Given the description of an element on the screen output the (x, y) to click on. 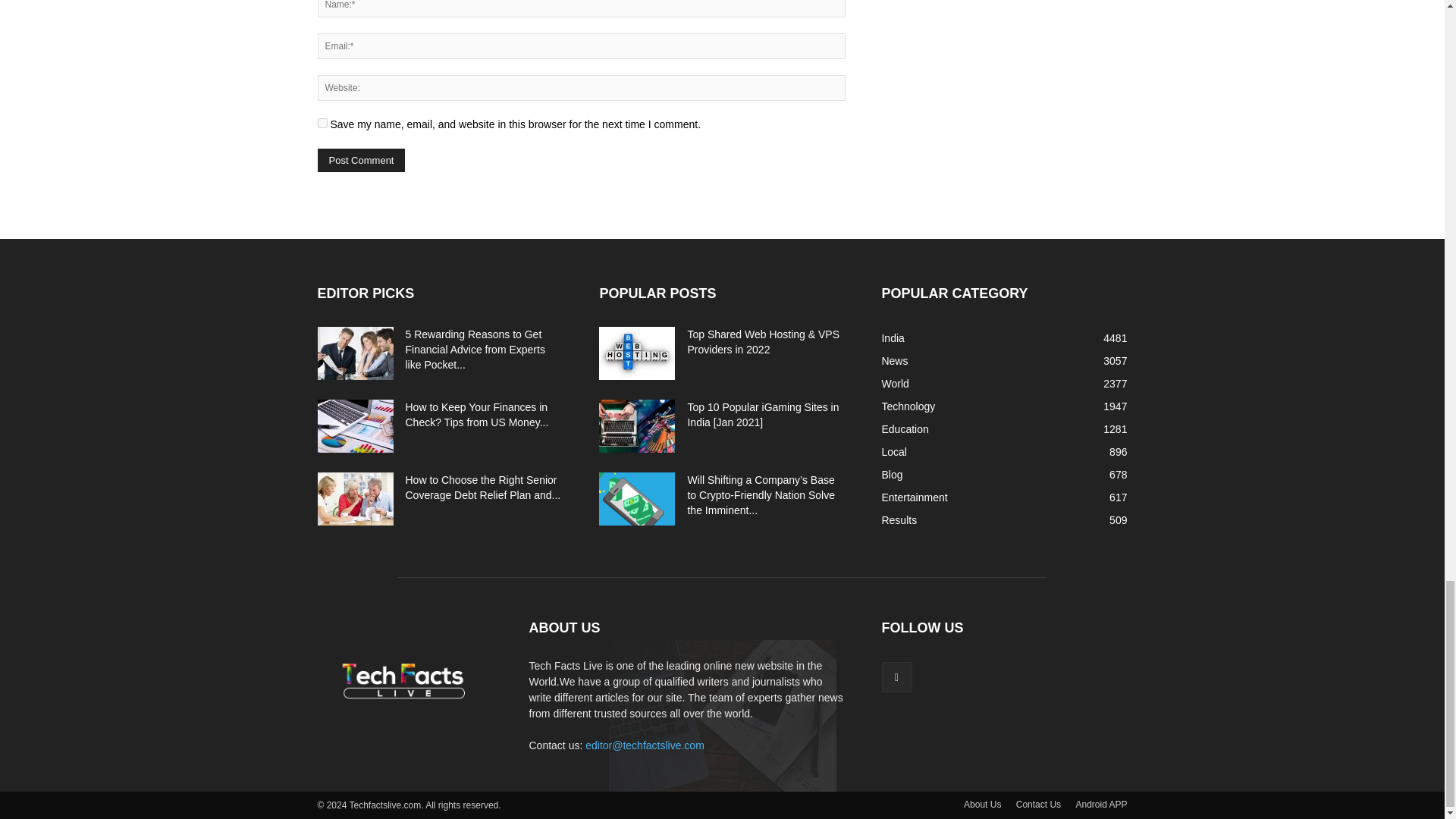
Post Comment (360, 159)
yes (321, 122)
